Given the description of an element on the screen output the (x, y) to click on. 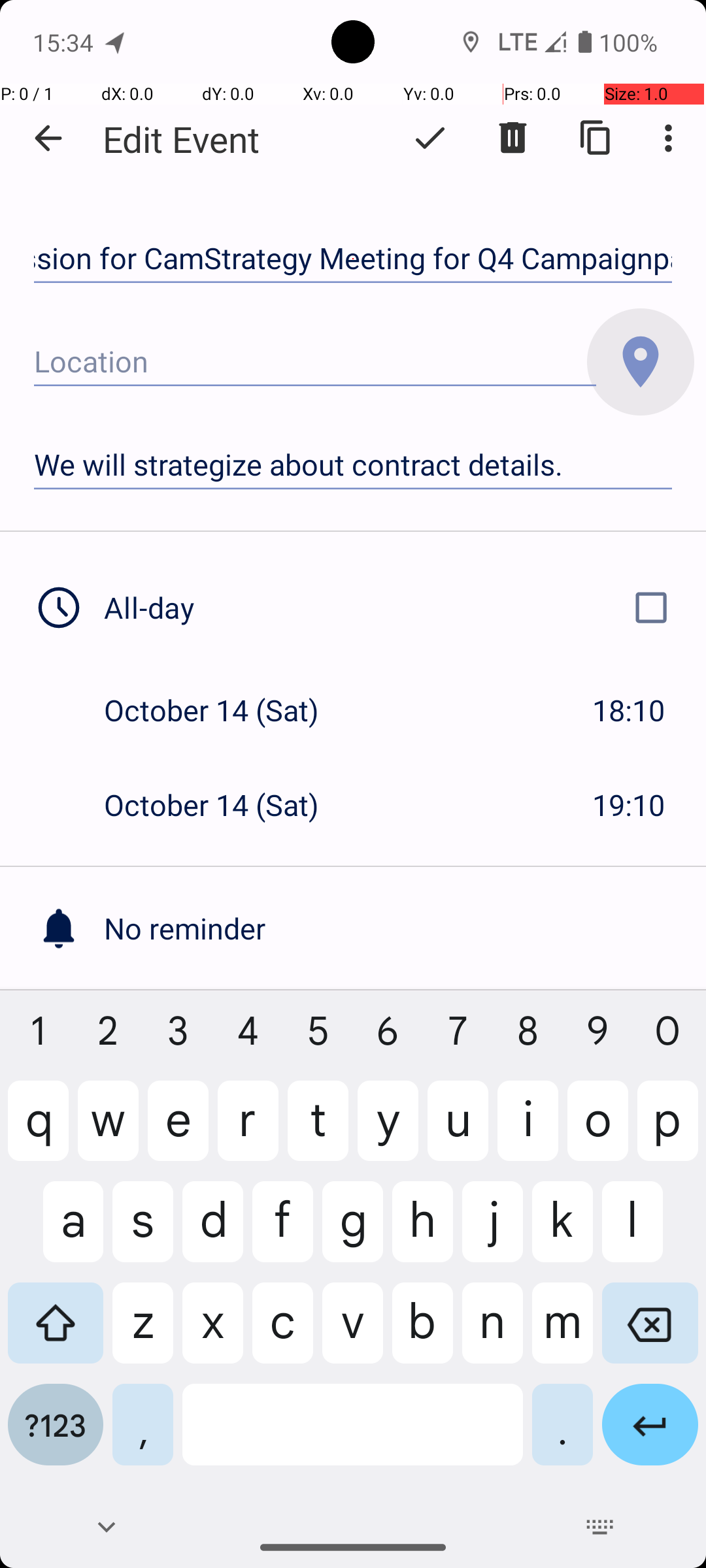
Review session for CamStrategy Meeting for Q4 Campaignpaign Element type: android.widget.EditText (352, 258)
We will strategize about contract details. Element type: android.widget.EditText (352, 465)
October 14 (Sat) Element type: android.widget.TextView (224, 709)
18:10 Element type: android.widget.TextView (628, 709)
19:10 Element type: android.widget.TextView (628, 804)
